Given the description of an element on the screen output the (x, y) to click on. 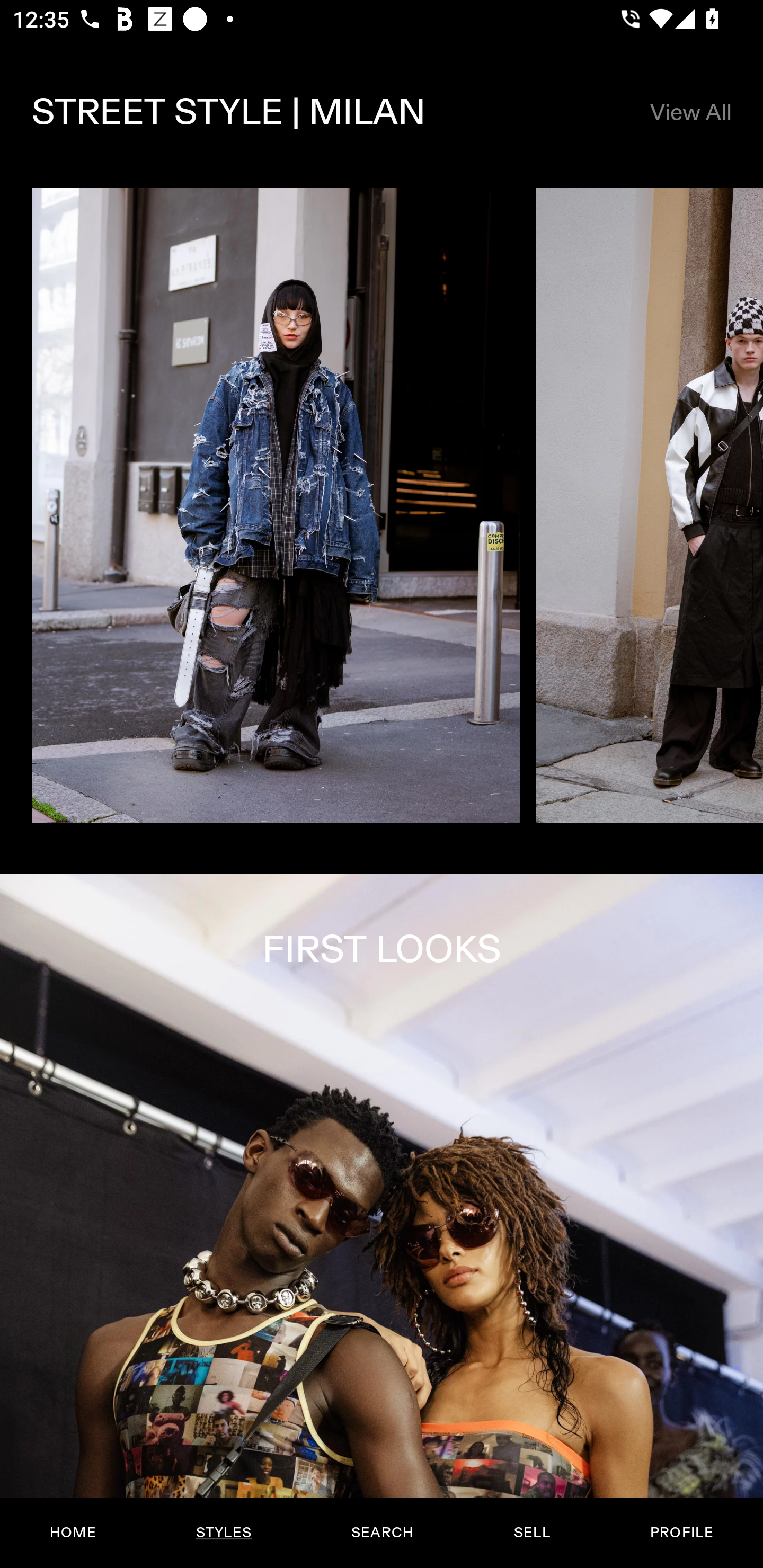
View All (690, 112)
FIRST LOOKS DIESEL FALL '24 (381, 1220)
HOME (72, 1532)
STYLES (222, 1532)
SEARCH (381, 1532)
SELL (531, 1532)
PROFILE (681, 1532)
